Given the description of an element on the screen output the (x, y) to click on. 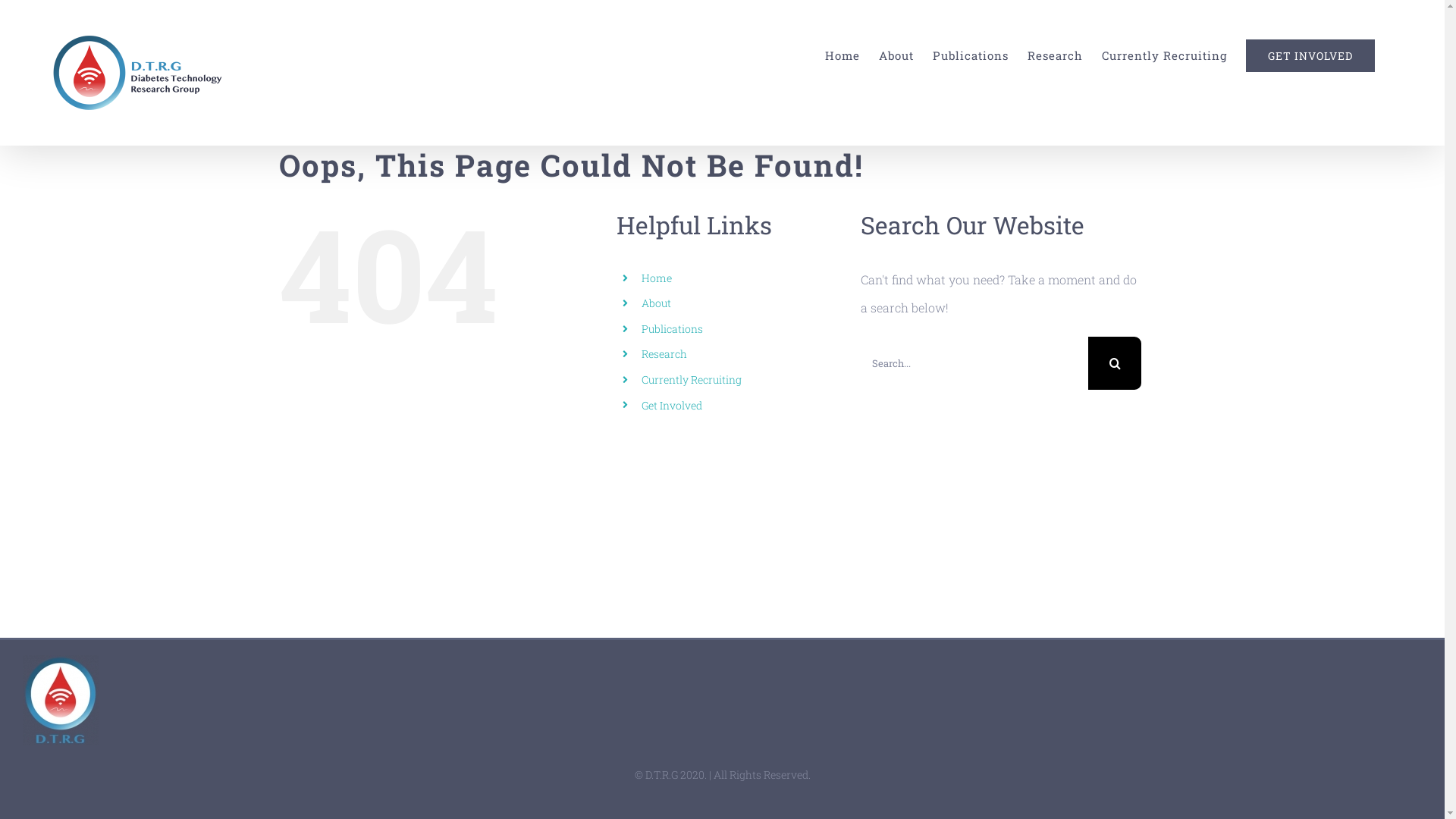
Get Involved Element type: text (671, 405)
Currently Recruiting Element type: text (1163, 55)
Research Element type: text (1054, 55)
Publications Element type: text (671, 328)
Home Element type: text (656, 277)
About Element type: text (895, 55)
Publications Element type: text (970, 55)
Research Element type: text (664, 353)
Home Element type: text (842, 55)
GET INVOLVED Element type: text (1309, 55)
About Element type: text (656, 302)
Currently Recruiting Element type: text (691, 379)
